Given the description of an element on the screen output the (x, y) to click on. 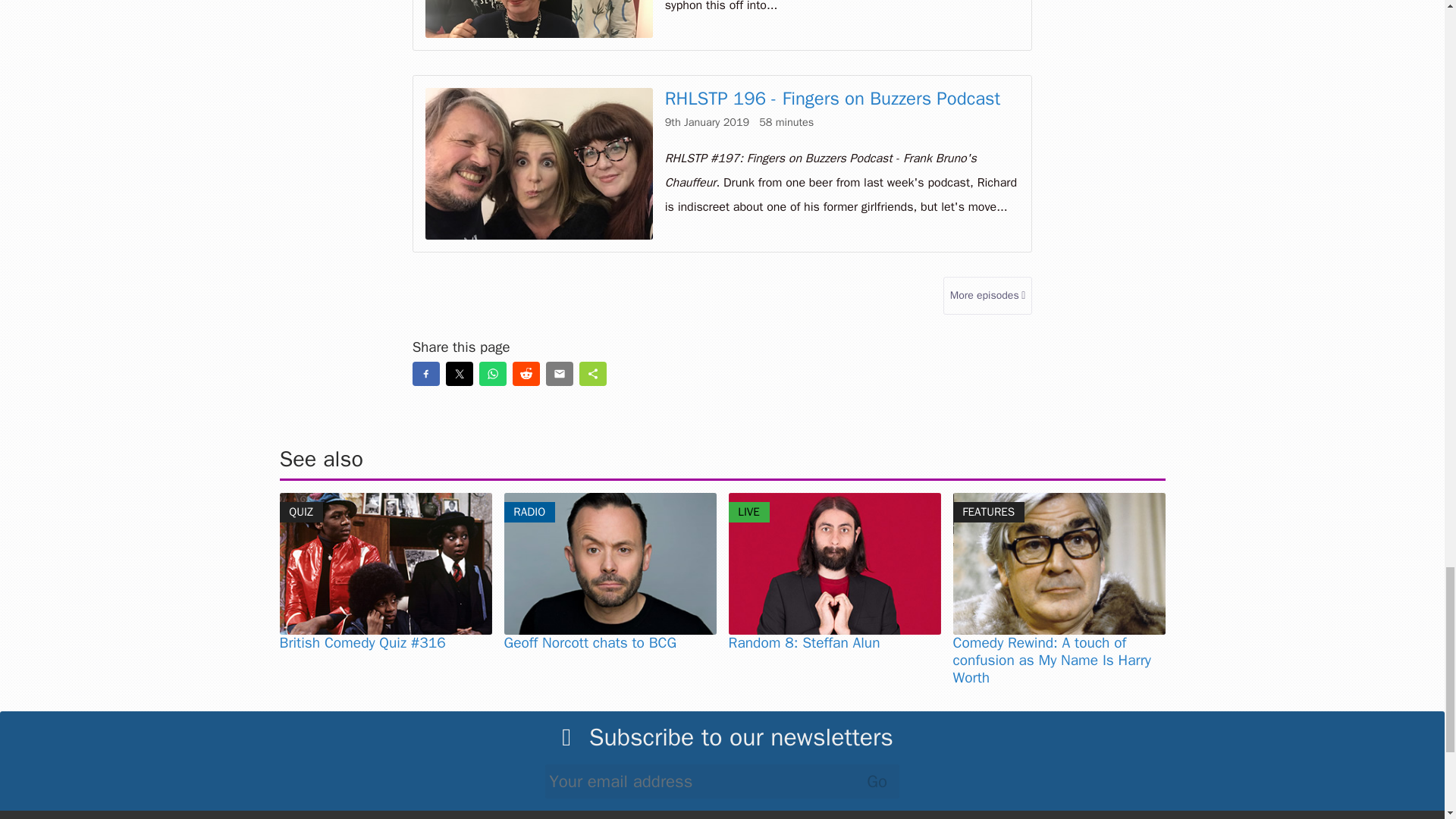
Steffan Alun (834, 563)
Geoff Norcott (609, 563)
